Given the description of an element on the screen output the (x, y) to click on. 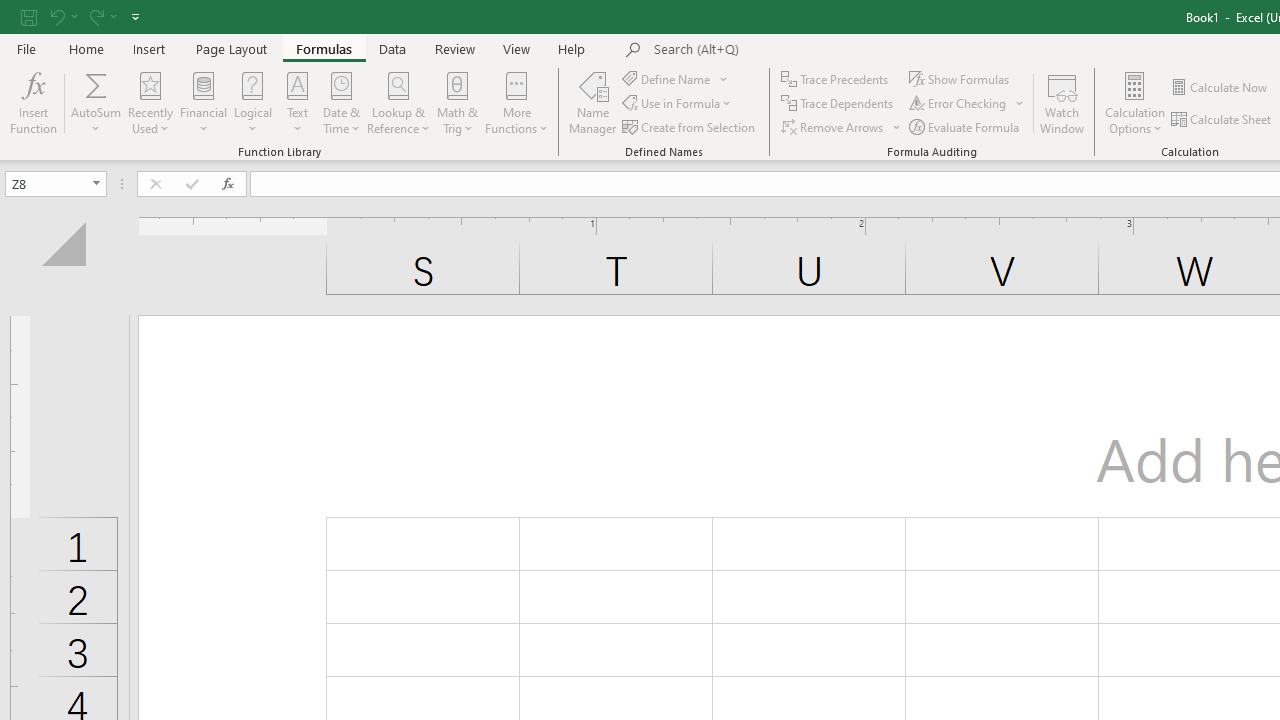
Remove Arrows (842, 126)
Sum (96, 84)
Calculate Sheet (1222, 119)
Trace Dependents (838, 103)
Lookup & Reference (398, 102)
Evaluate Formula (966, 126)
AutoSum (96, 102)
Calculate Now (1220, 87)
